Given the description of an element on the screen output the (x, y) to click on. 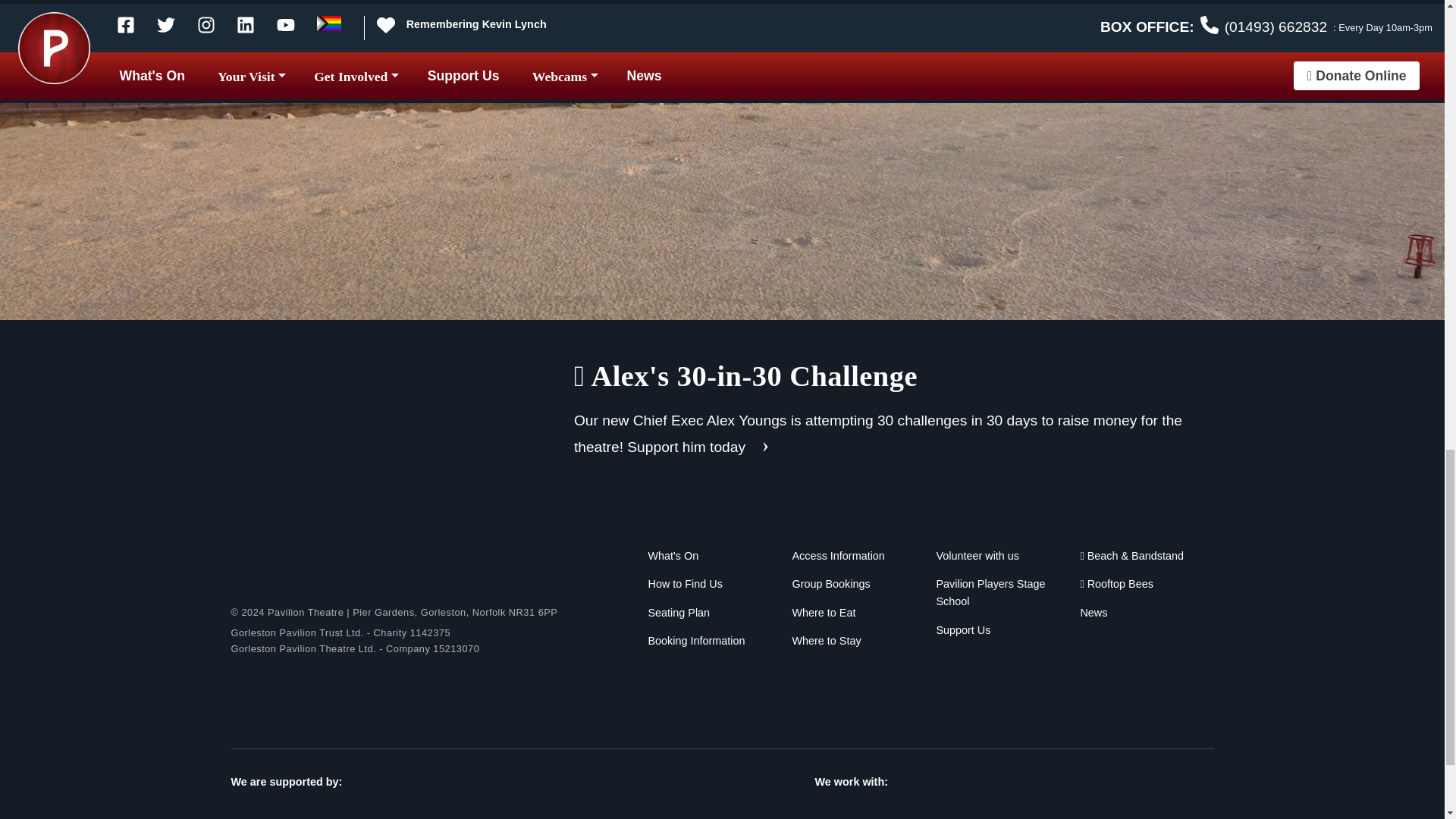
Booking Information (695, 640)
How to Find Us (684, 583)
Pavilion Players Stage School (990, 592)
News (1093, 612)
Access Information (837, 555)
Group Bookings (830, 583)
Support Us (963, 630)
Volunteer with us (977, 555)
Where to Eat (824, 612)
Where to Stay (826, 640)
What's On (672, 555)
Seating Plan (678, 612)
